Given the description of an element on the screen output the (x, y) to click on. 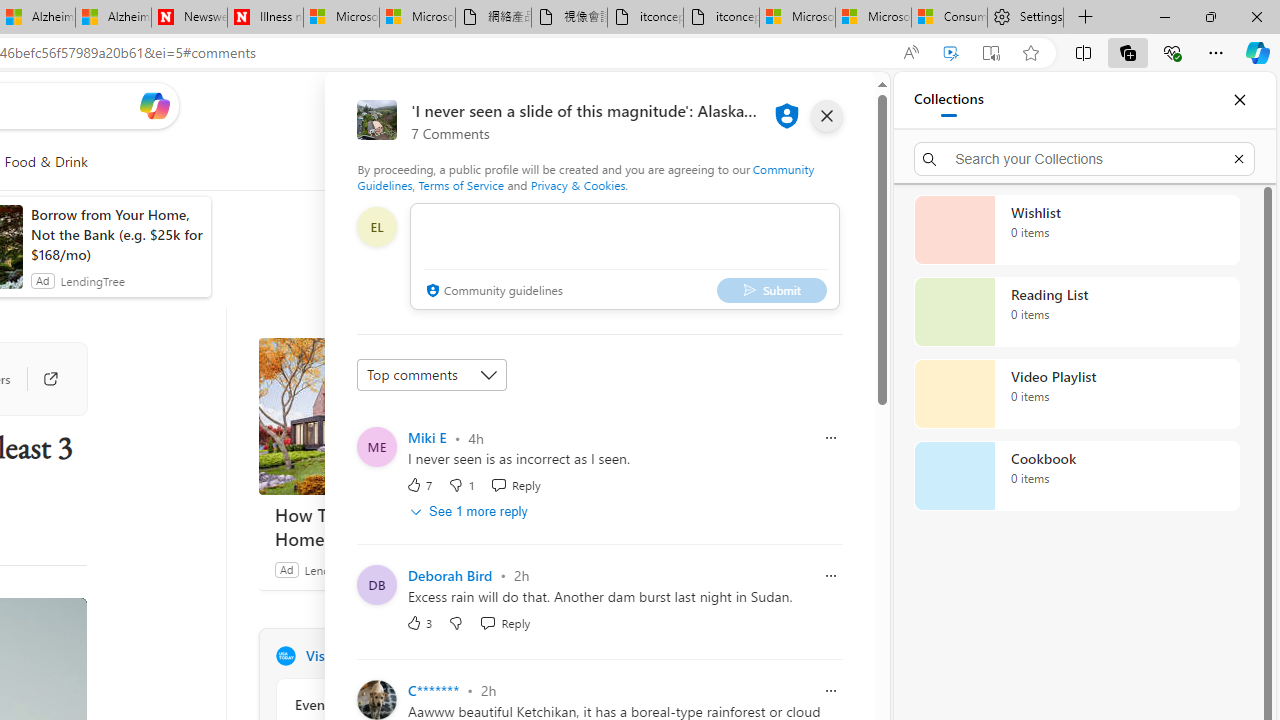
Reading List collection, 0 items (1076, 312)
Illness news & latest pictures from Newsweek.com (265, 17)
Community guidelines (492, 291)
Borrow from Your Home, Not the Bank (e.g. $25k for $168/mo) (116, 234)
Community Guidelines (586, 176)
Miki E (427, 437)
Wishlist collection, 0 items (1076, 229)
C******* (433, 690)
